Given the description of an element on the screen output the (x, y) to click on. 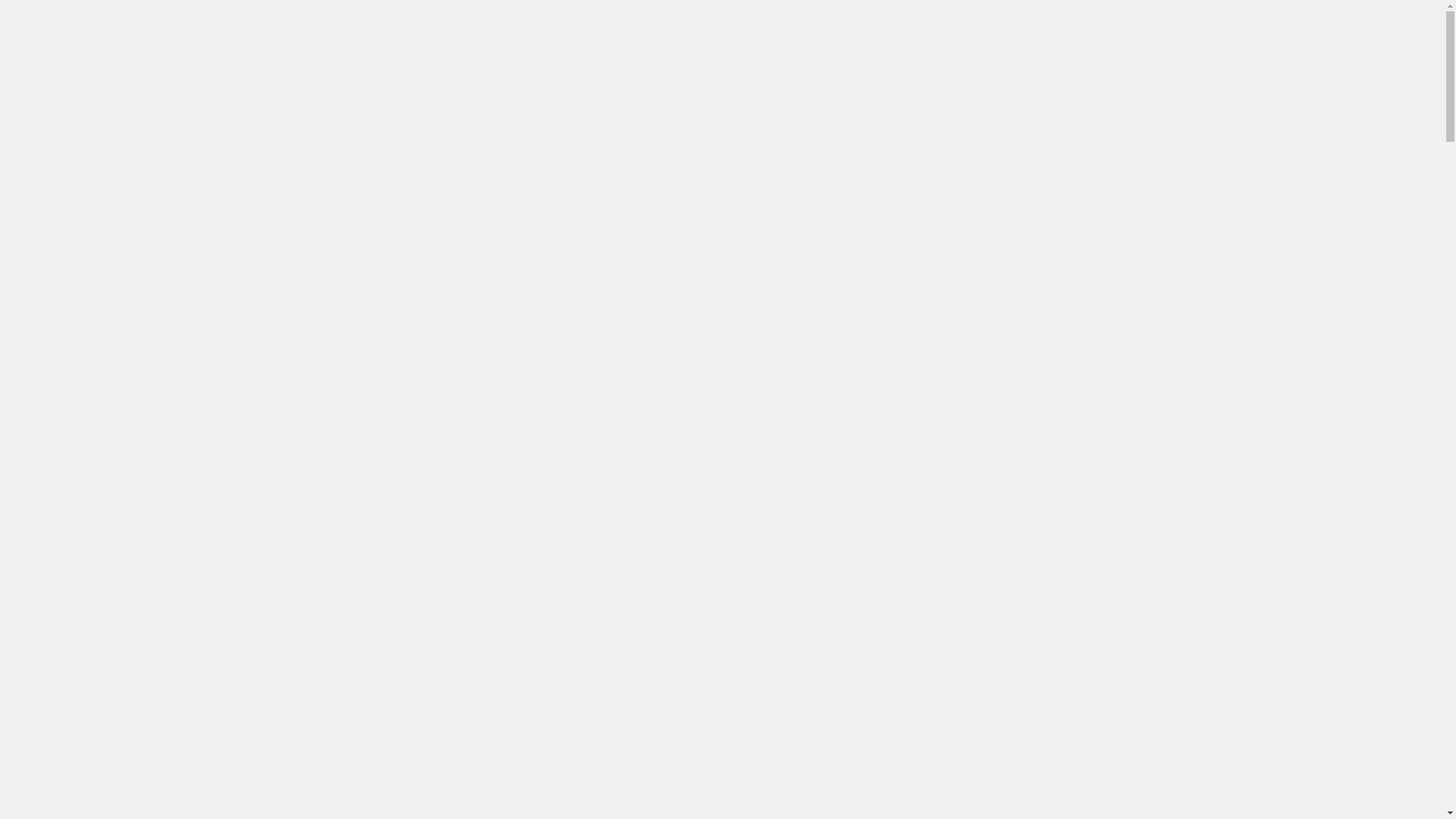
barvixa.grodno Element type: text (23, 223)
+37533 915-32-32 Element type: text (23, 77)
